Given the description of an element on the screen output the (x, y) to click on. 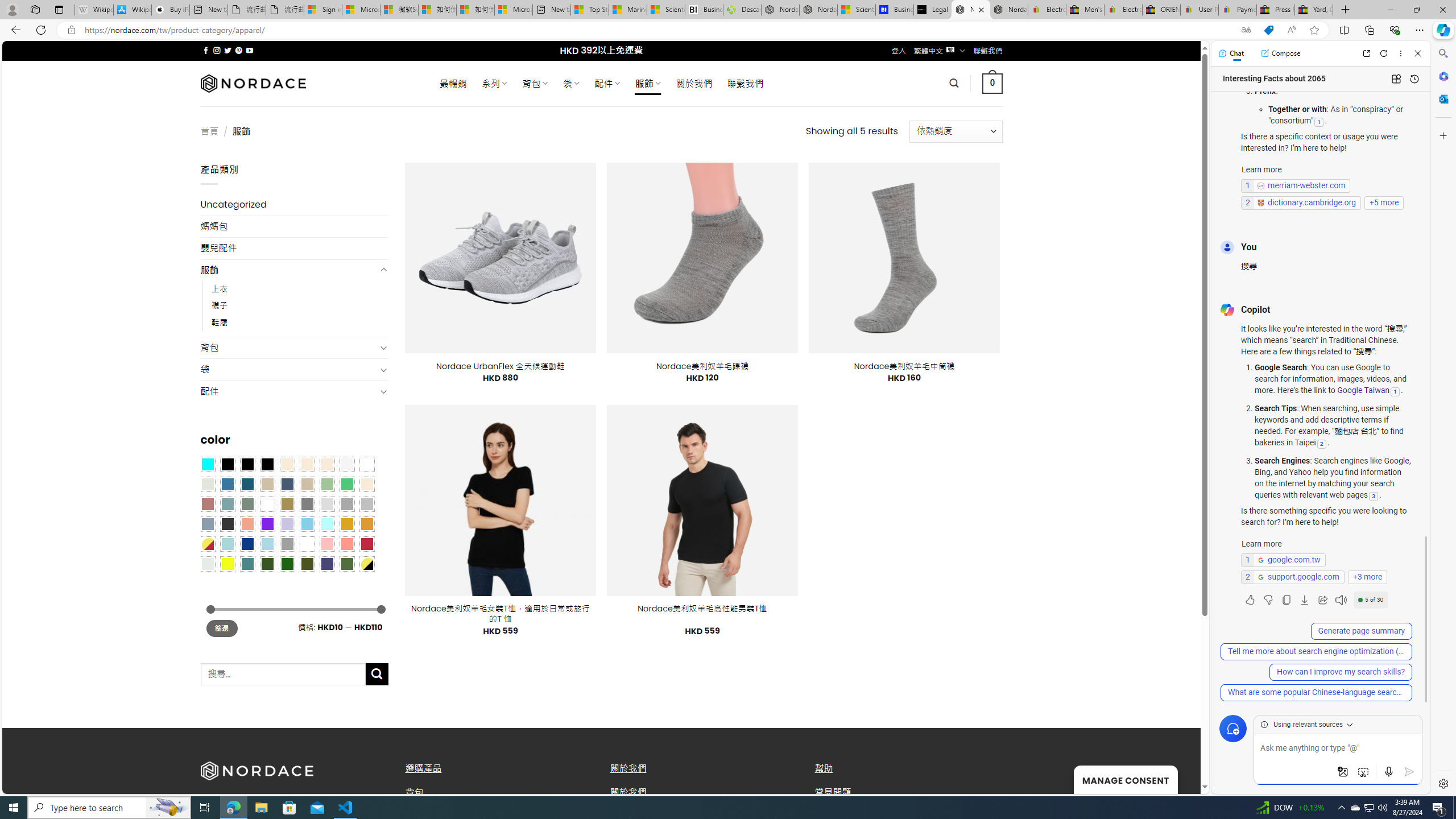
Follow on Facebook (205, 50)
